Given the description of an element on the screen output the (x, y) to click on. 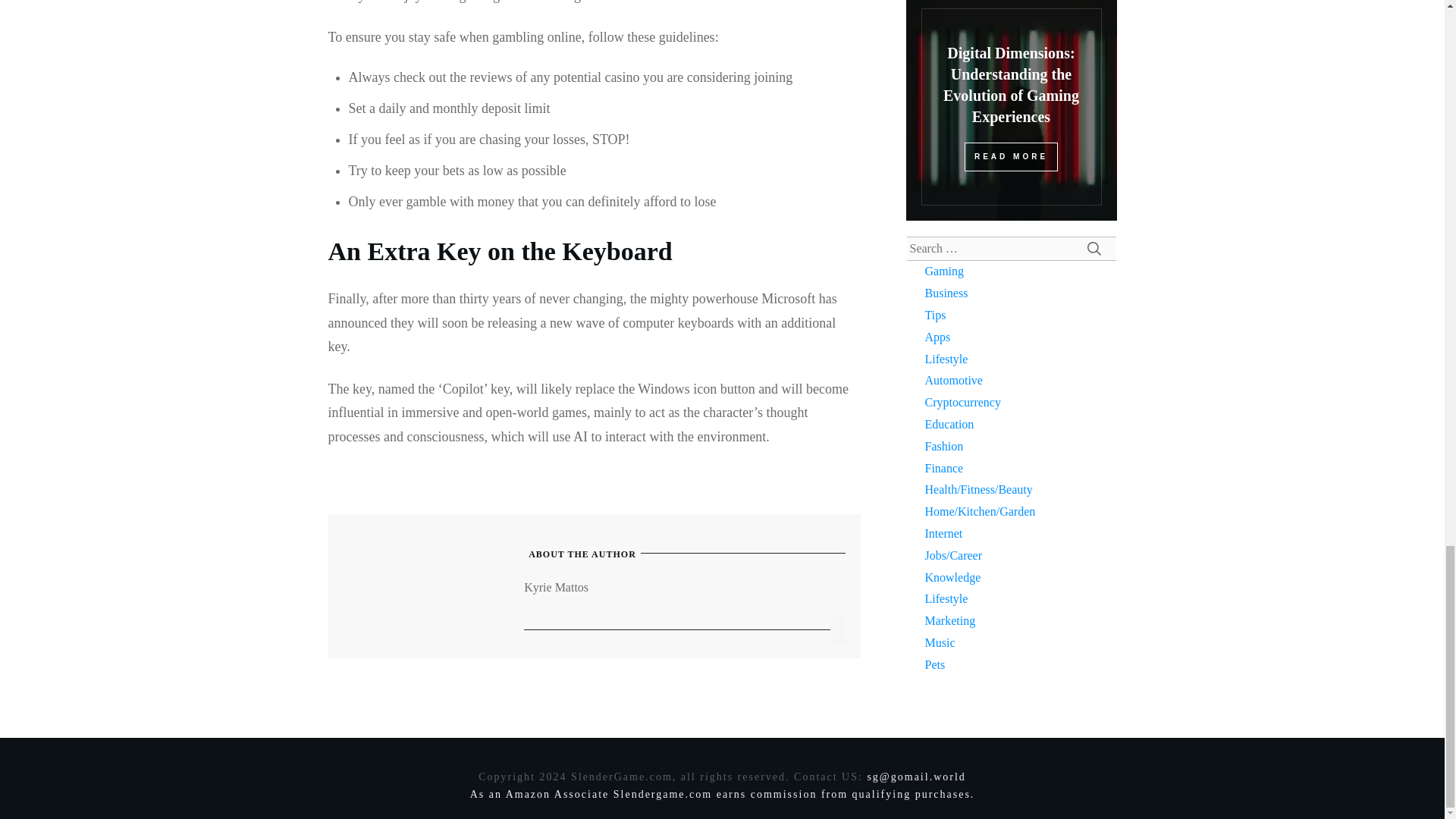
Search (1093, 248)
Gaming (943, 270)
Business (946, 292)
Tips (935, 314)
Search (1093, 248)
READ MORE (1010, 156)
Apps (937, 336)
Search (1093, 248)
